Given the description of an element on the screen output the (x, y) to click on. 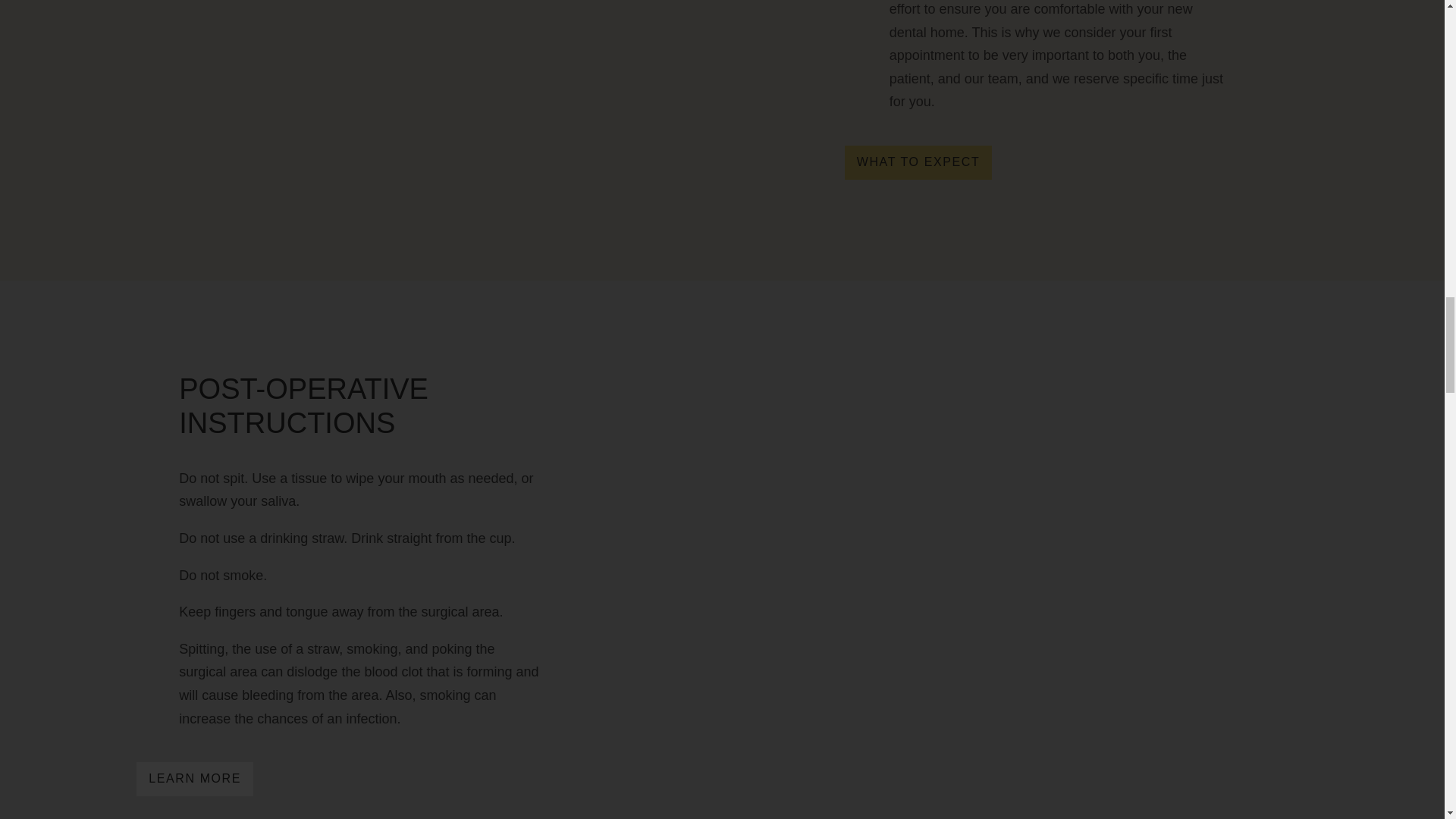
WHAT TO EXPECT (918, 162)
LEARN MORE (194, 779)
